Given the description of an element on the screen output the (x, y) to click on. 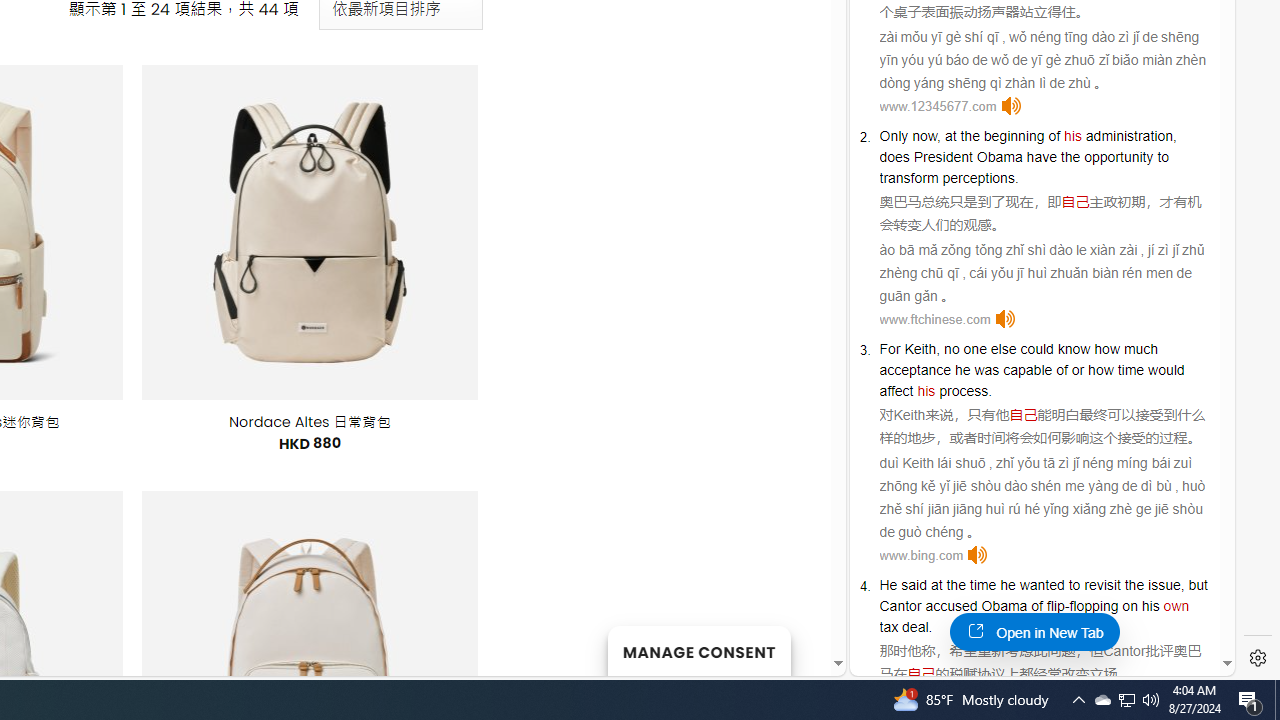
Click to listen (977, 555)
he (962, 370)
Cantor (1124, 650)
tax (888, 627)
could (1036, 349)
opportunity (1119, 156)
